Given the description of an element on the screen output the (x, y) to click on. 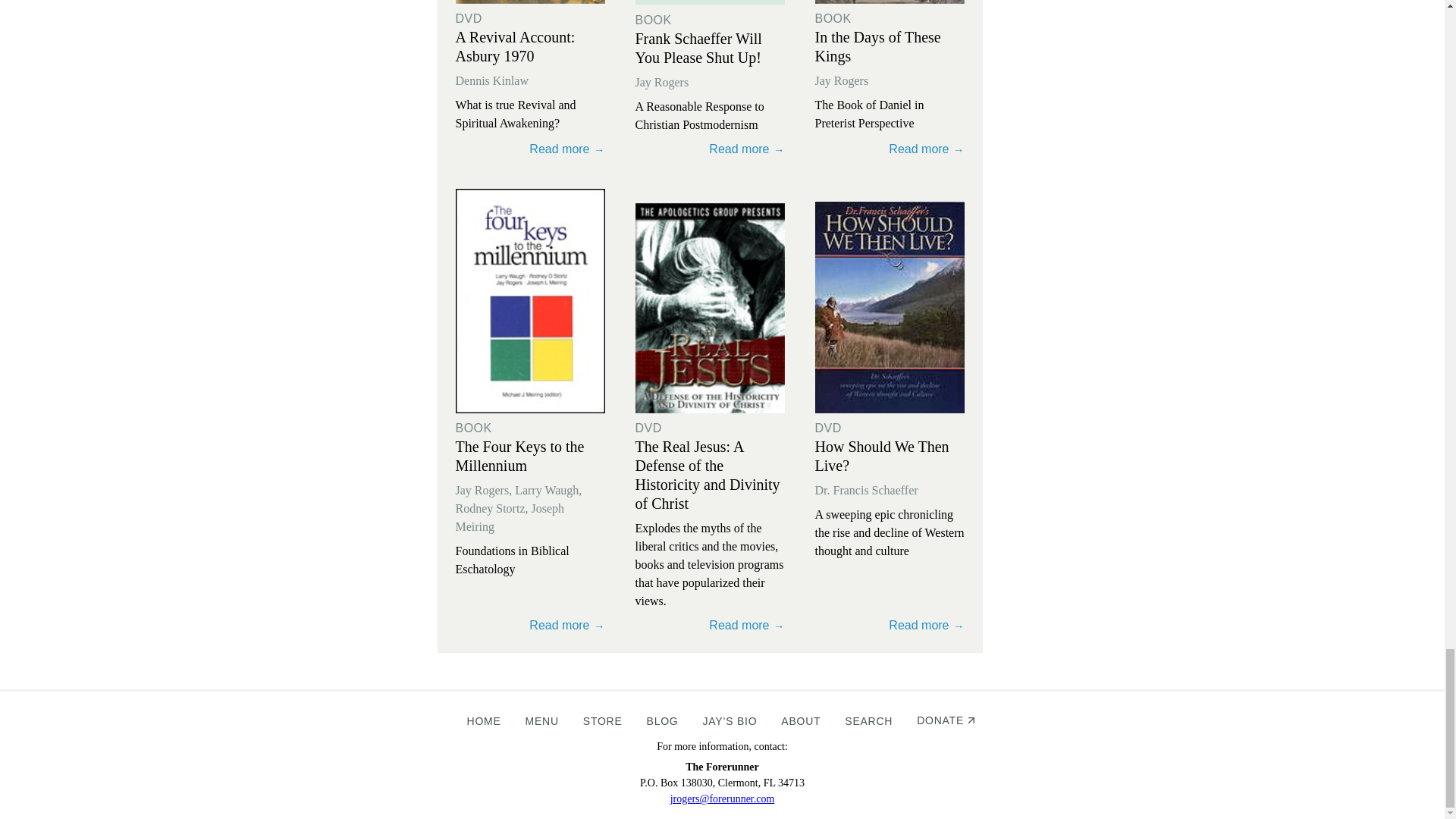
Read more (529, 622)
Read more (888, 146)
Read more (888, 2)
Read more (529, 622)
The Four Keys to the Millennium (518, 456)
How Should We Then Live? (881, 456)
Read more (709, 2)
Read more (888, 146)
Read more (529, 146)
Read more (709, 146)
Read more (529, 2)
Read more (709, 146)
In the Days of These Kings (876, 46)
Frank Schaeffer Will You Please Shut Up! (697, 48)
